Given the description of an element on the screen output the (x, y) to click on. 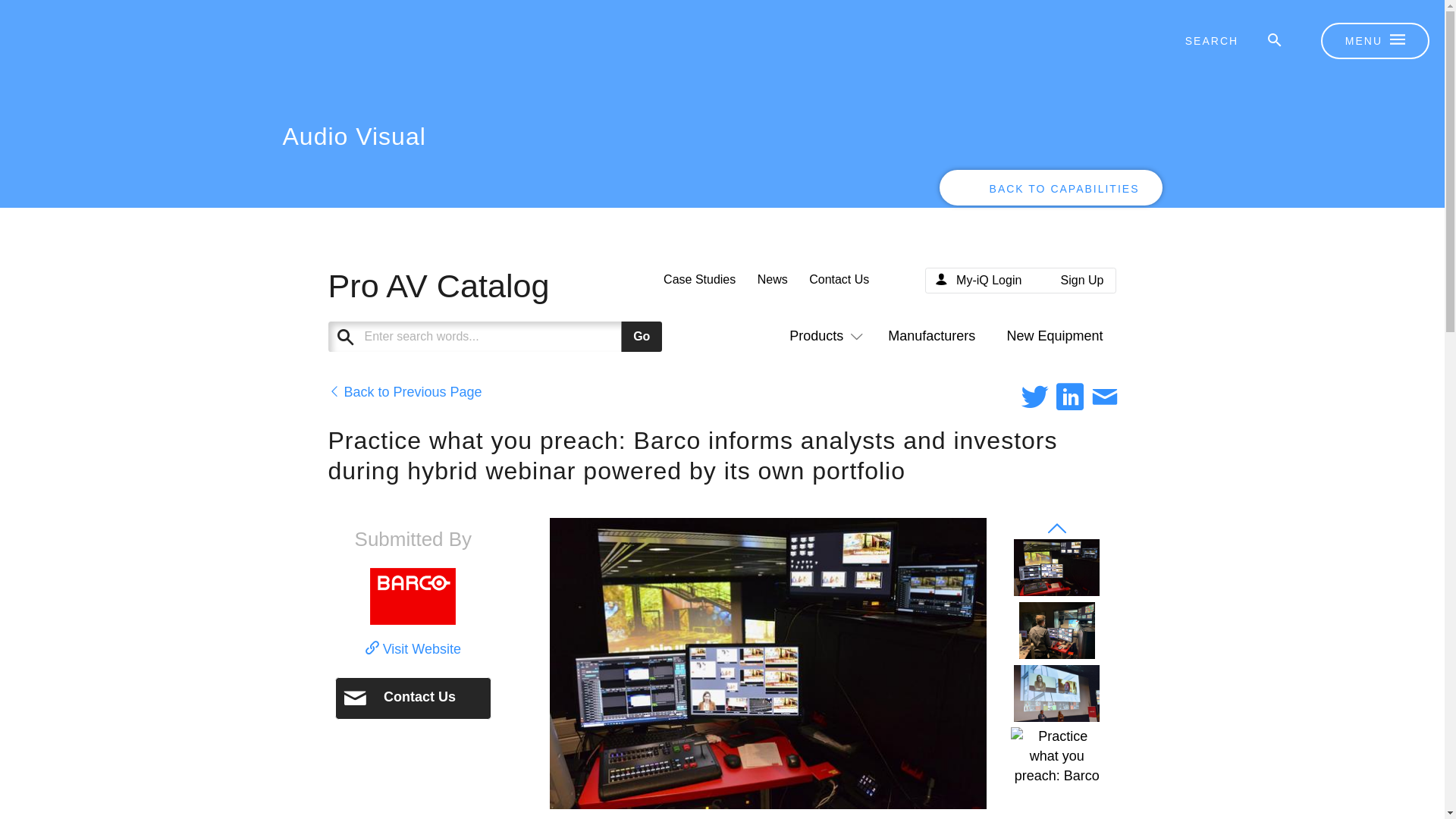
Enter search words... (531, 336)
Image 4 of 4 (1056, 755)
Image 2 of 4 (1056, 630)
Image 3 of 4 (1056, 692)
Go (641, 336)
Image 1 of 4 (1056, 567)
Go (641, 336)
Search for: (1222, 40)
